Given the description of an element on the screen output the (x, y) to click on. 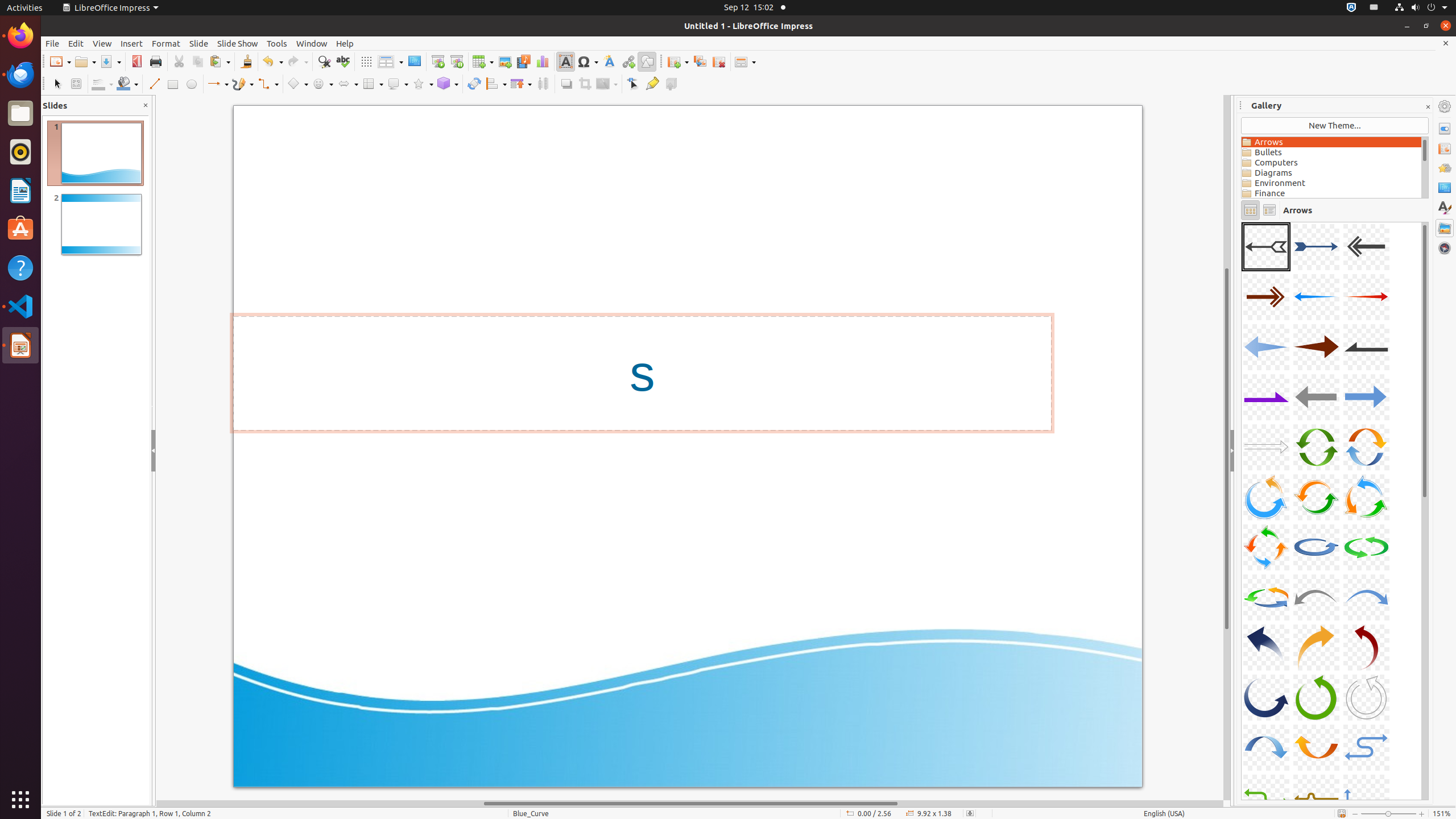
Visual Studio Code Element type: push-button (20, 306)
Glue Points Element type: push-button (651, 83)
A06-Arrow-Red-Right Element type: list-item (1365, 296)
Distribution Element type: push-button (542, 83)
Diagrams Element type: list-item (1331, 172)
